Given the description of an element on the screen output the (x, y) to click on. 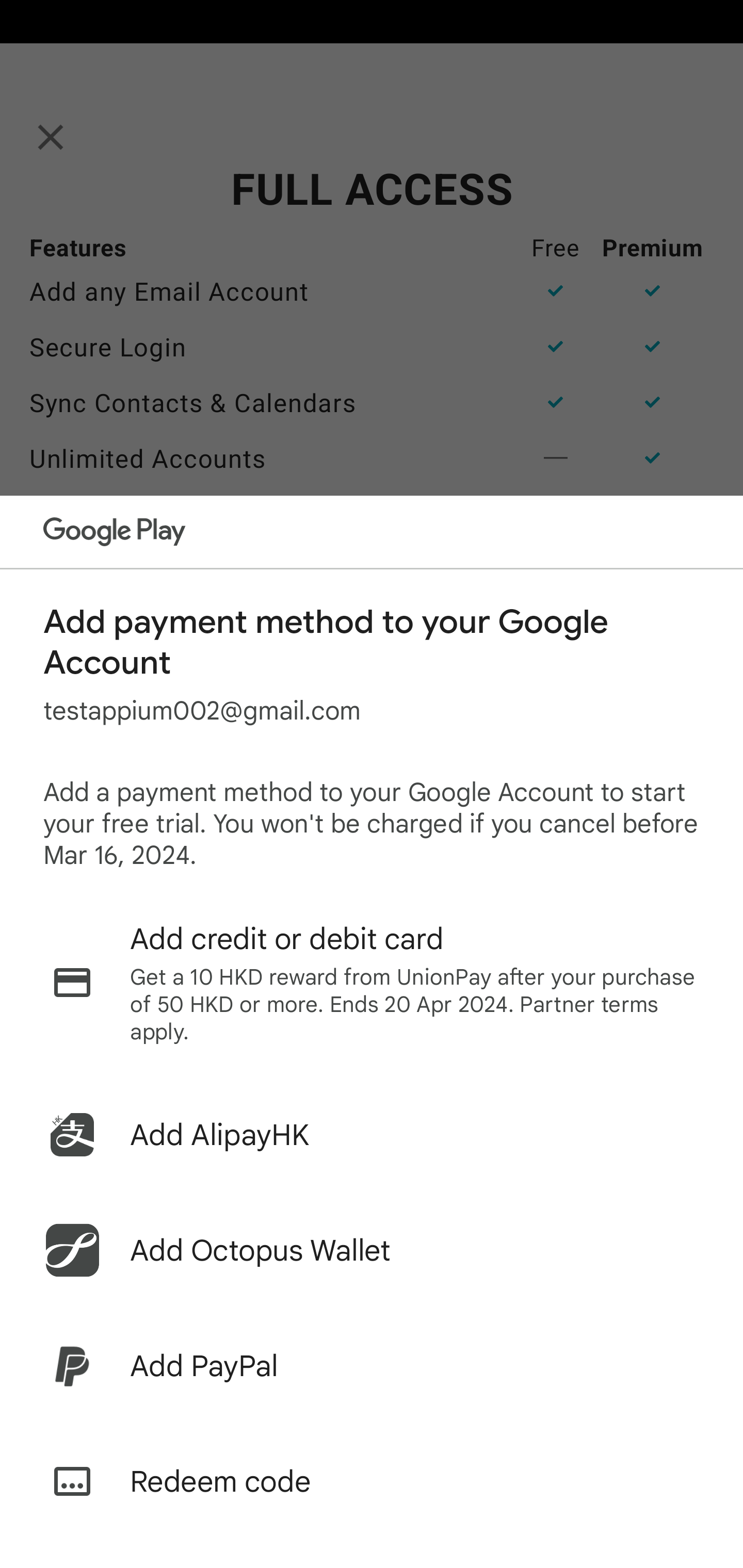
Add AlipayHK (371, 1135)
Add Octopus Wallet (371, 1250)
Add PayPal (371, 1365)
Redeem code (371, 1481)
